Given the description of an element on the screen output the (x, y) to click on. 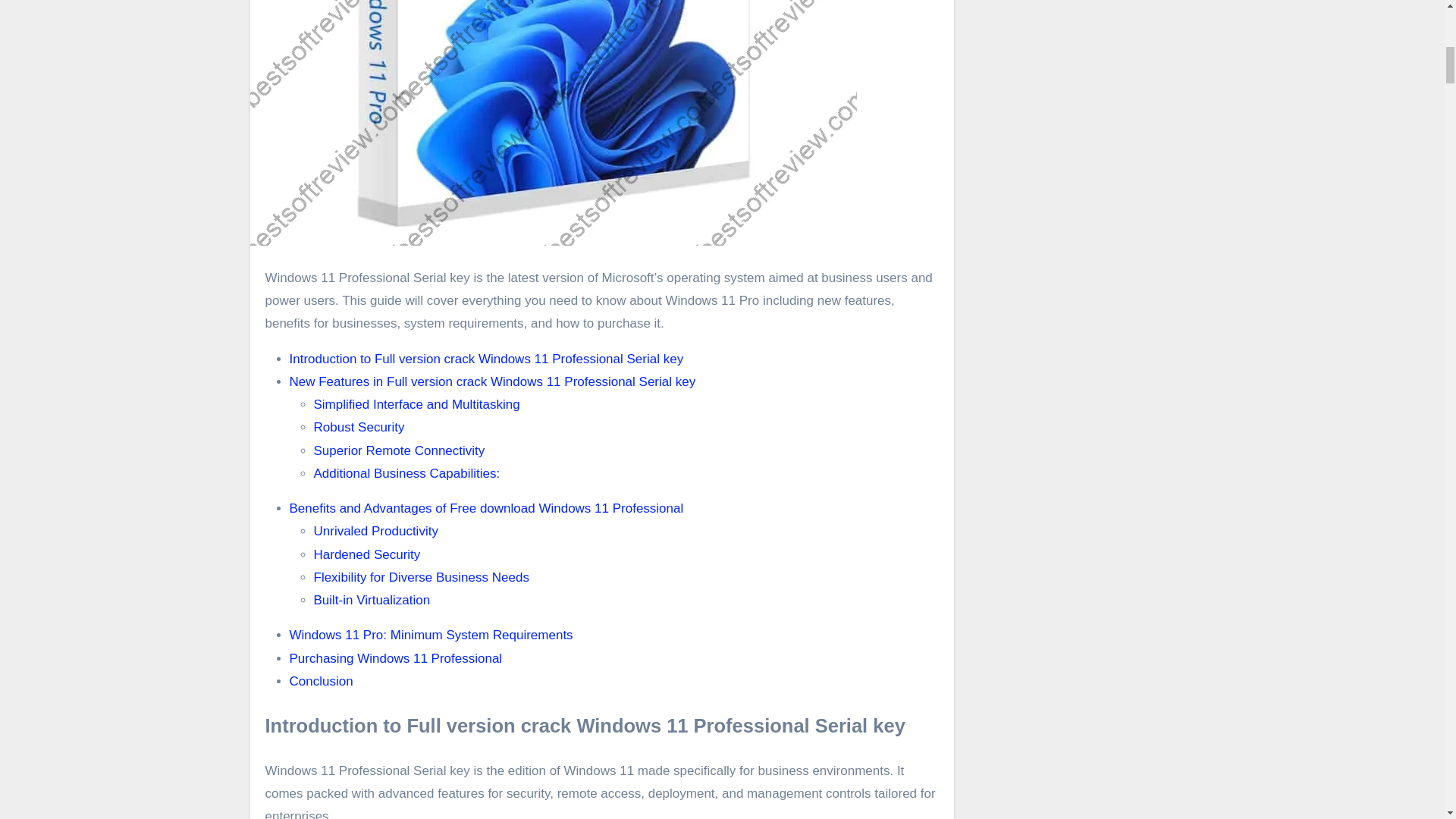
Built-in Virtualization (372, 599)
Superior Remote Connectivity (399, 450)
Windows 11 Pro: Minimum System Requirements (431, 635)
Robust Security (359, 427)
Additional Business Capabilities: (407, 473)
Hardened Security (367, 554)
Flexibility for Diverse Business Needs (421, 577)
Purchasing Windows 11 Professional (395, 657)
Simplified Interface and Multitasking (416, 404)
